Given the description of an element on the screen output the (x, y) to click on. 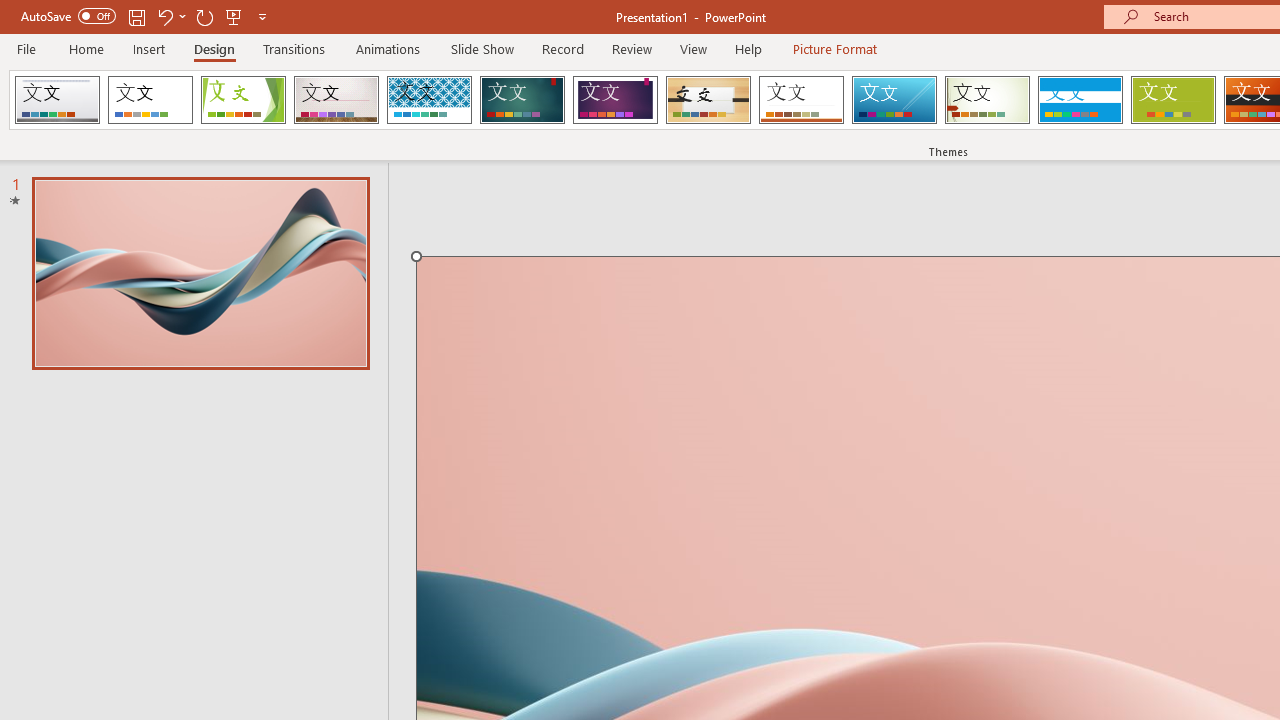
Basis (1172, 100)
Organic (708, 100)
Ion Boardroom (615, 100)
Picture Format (834, 48)
Integral (429, 100)
Facet (243, 100)
Retrospect (801, 100)
